Given the description of an element on the screen output the (x, y) to click on. 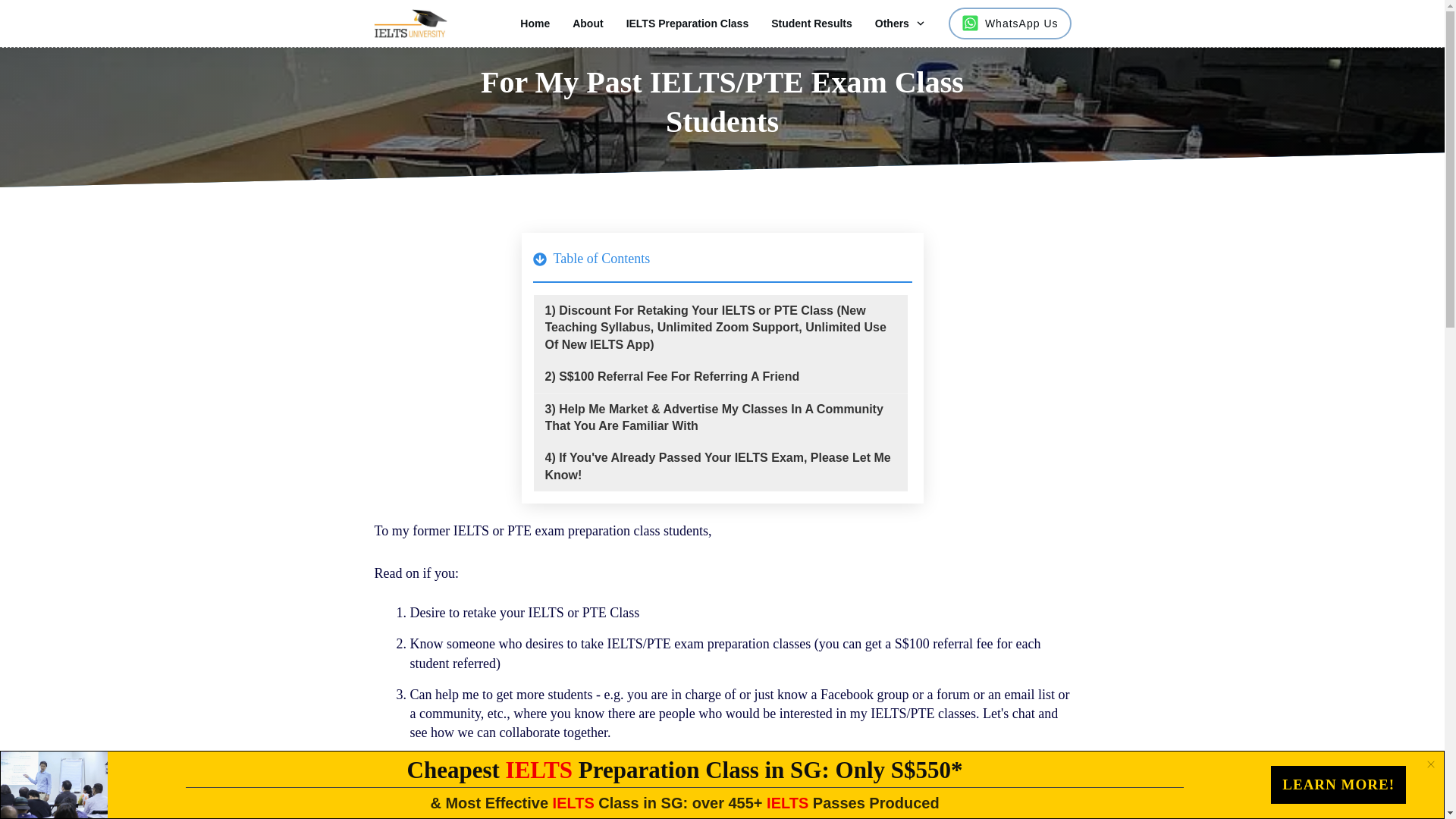
IELTS Preparation Class (687, 23)
Student Results (811, 23)
WhatsApp Us (1009, 23)
About (587, 23)
Home (534, 23)
Others (900, 23)
LEARN MORE! (1338, 784)
